Given the description of an element on the screen output the (x, y) to click on. 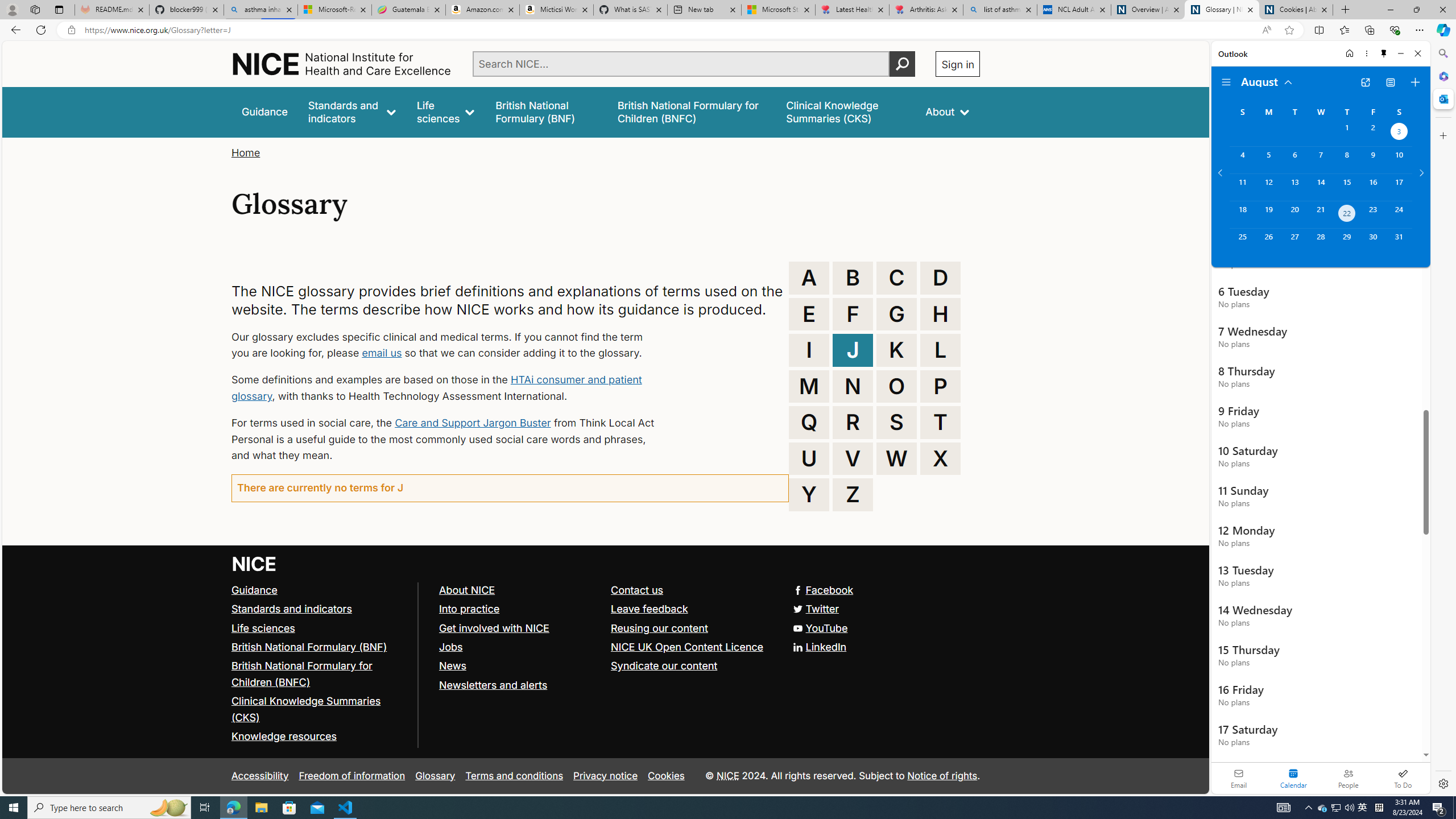
Syndicate our content (692, 665)
Wednesday, August 28, 2024.  (1320, 241)
Sunday, August 18, 2024.  (1242, 214)
About NICE (466, 589)
Wednesday, August 7, 2024.  (1320, 159)
L (940, 350)
S (896, 422)
Knowledge resources (283, 736)
M (809, 385)
Life sciences (319, 628)
